Given the description of an element on the screen output the (x, y) to click on. 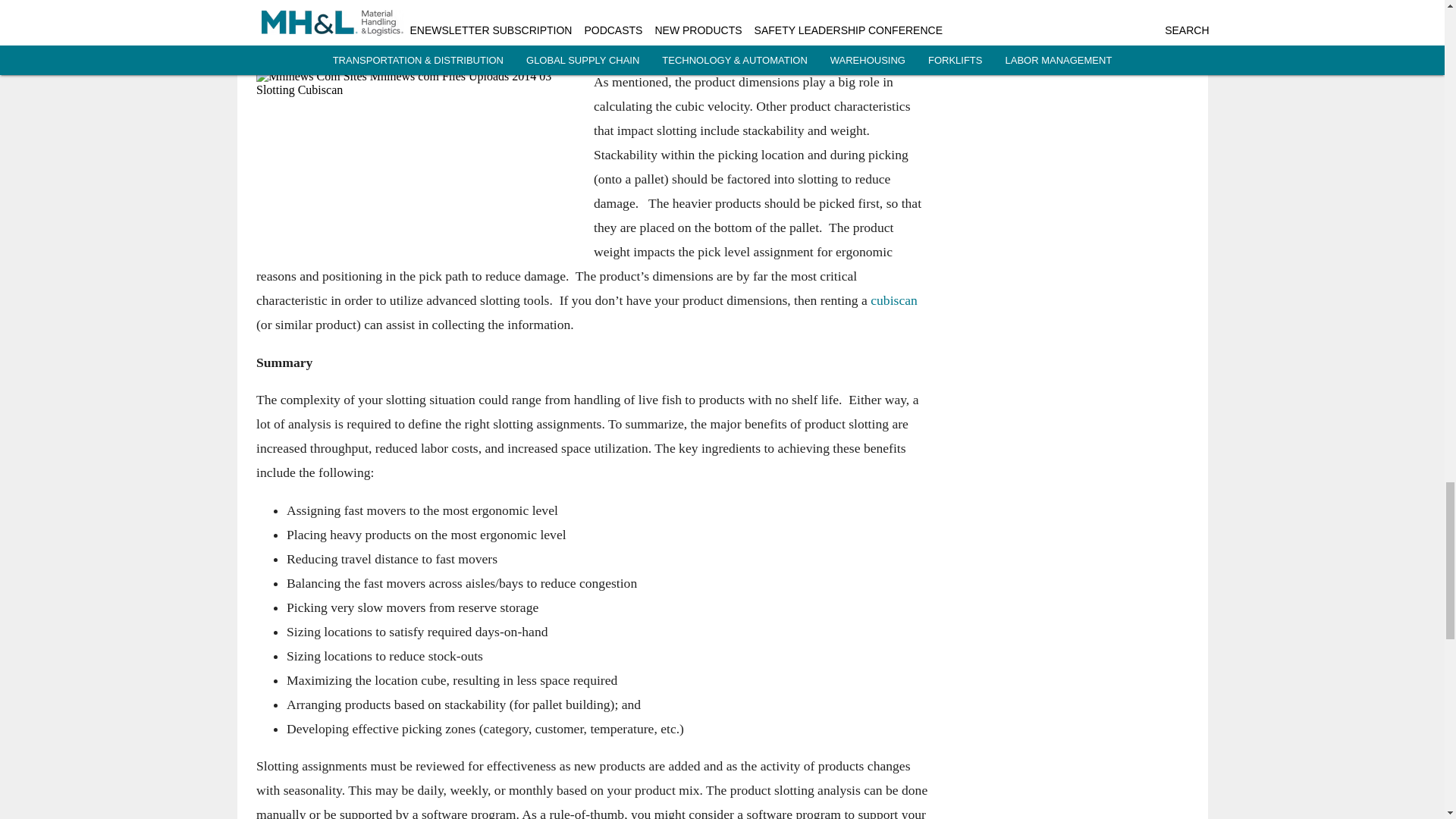
cubiscan (893, 299)
